Given the description of an element on the screen output the (x, y) to click on. 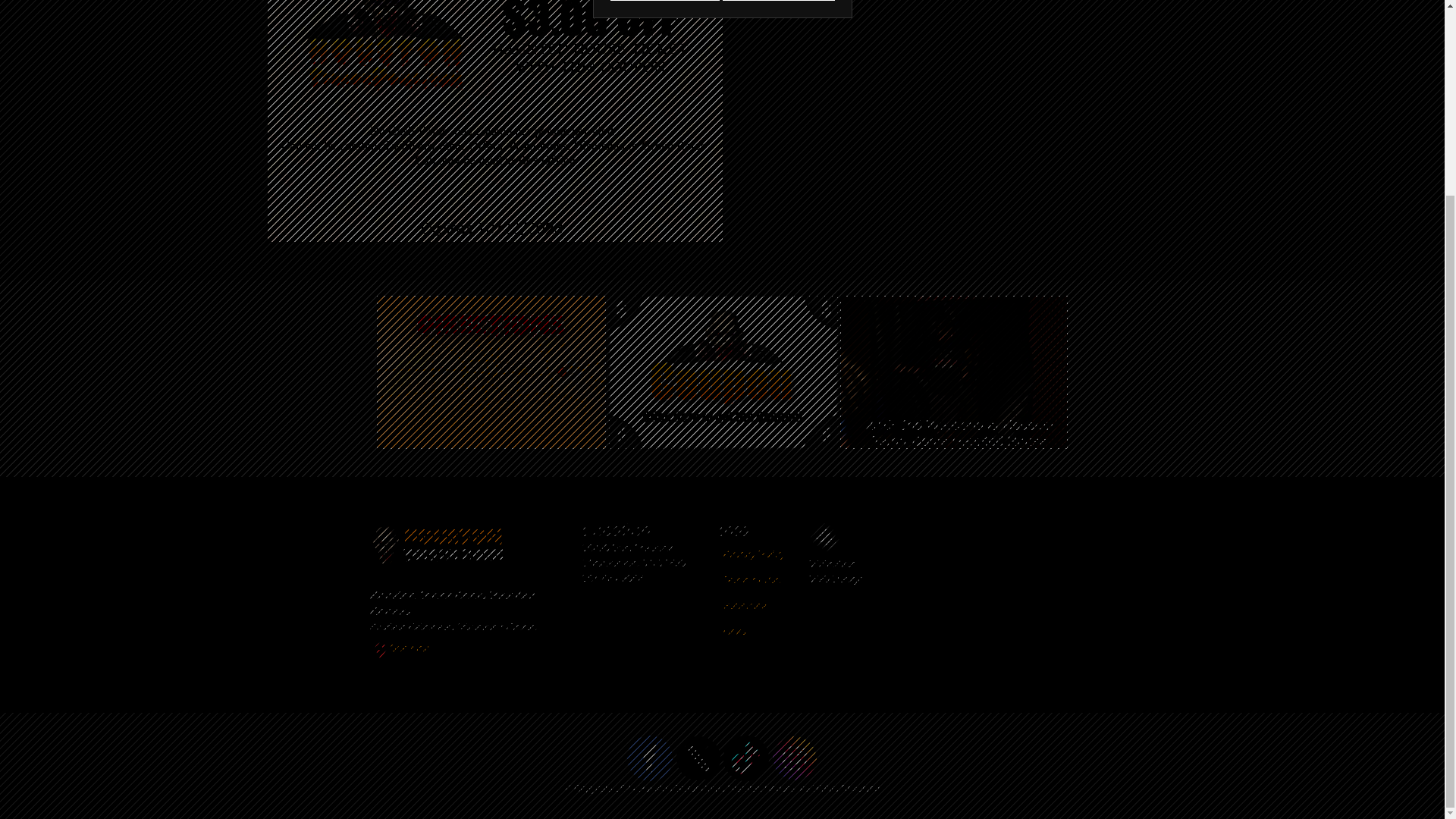
WhiteSites Web Design (824, 537)
Subscribe (745, 605)
Privacy Policy (754, 554)
Terms of Use (752, 580)
Links (735, 631)
See Map (401, 651)
